Given the description of an element on the screen output the (x, y) to click on. 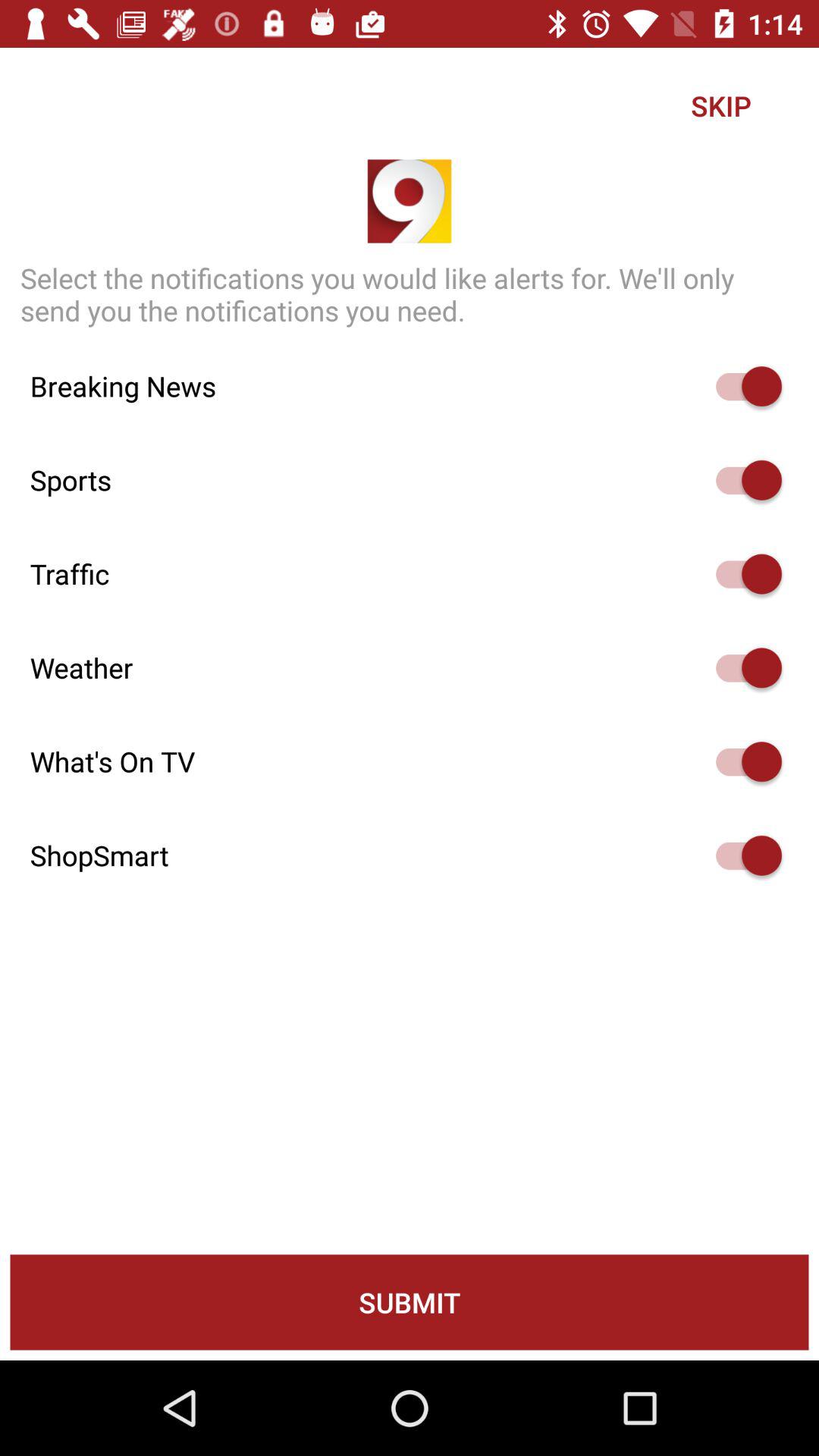
turn on the submit (409, 1302)
